Given the description of an element on the screen output the (x, y) to click on. 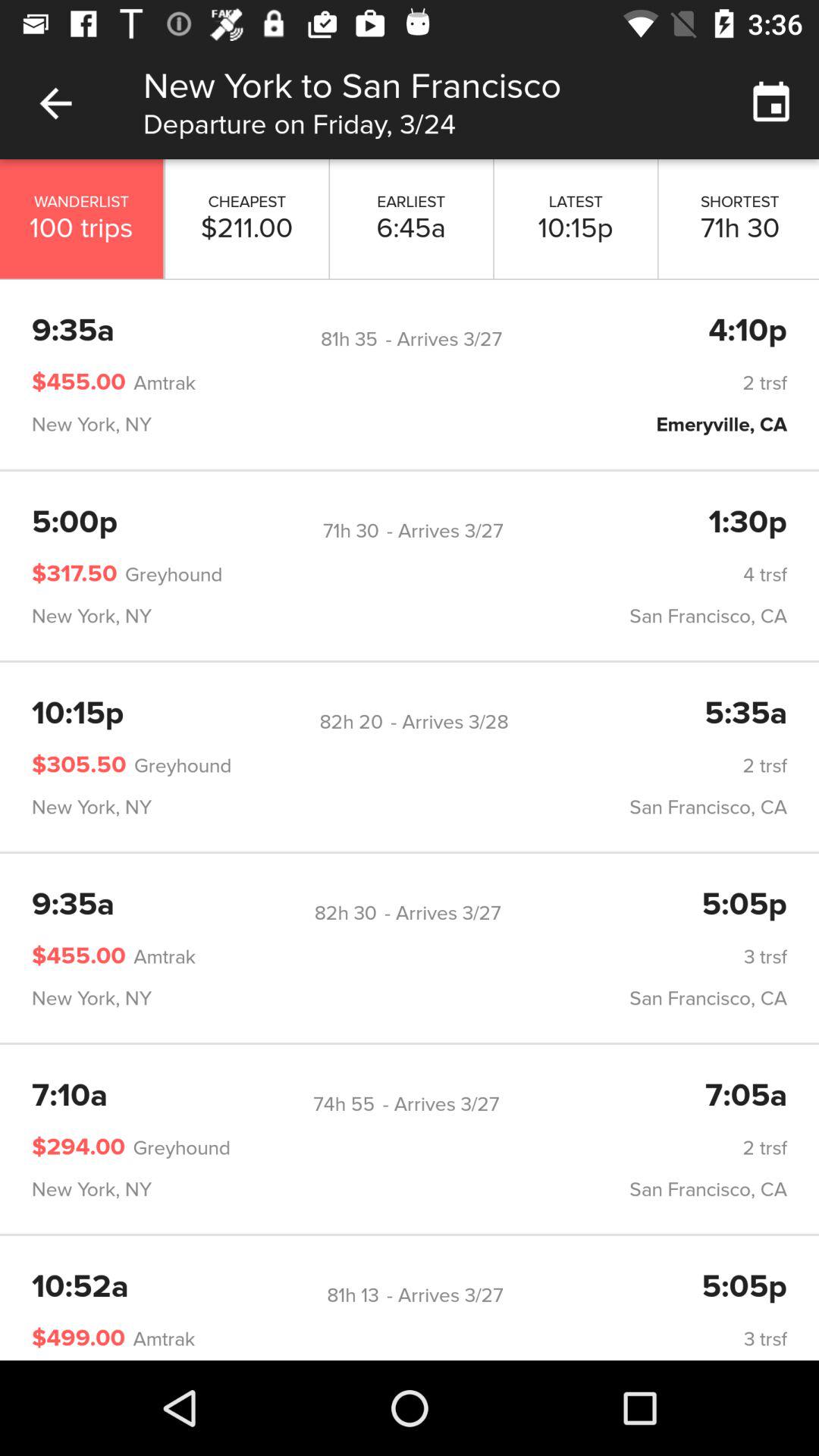
press icon to the right of the - arrives 3/27 item (747, 523)
